Given the description of an element on the screen output the (x, y) to click on. 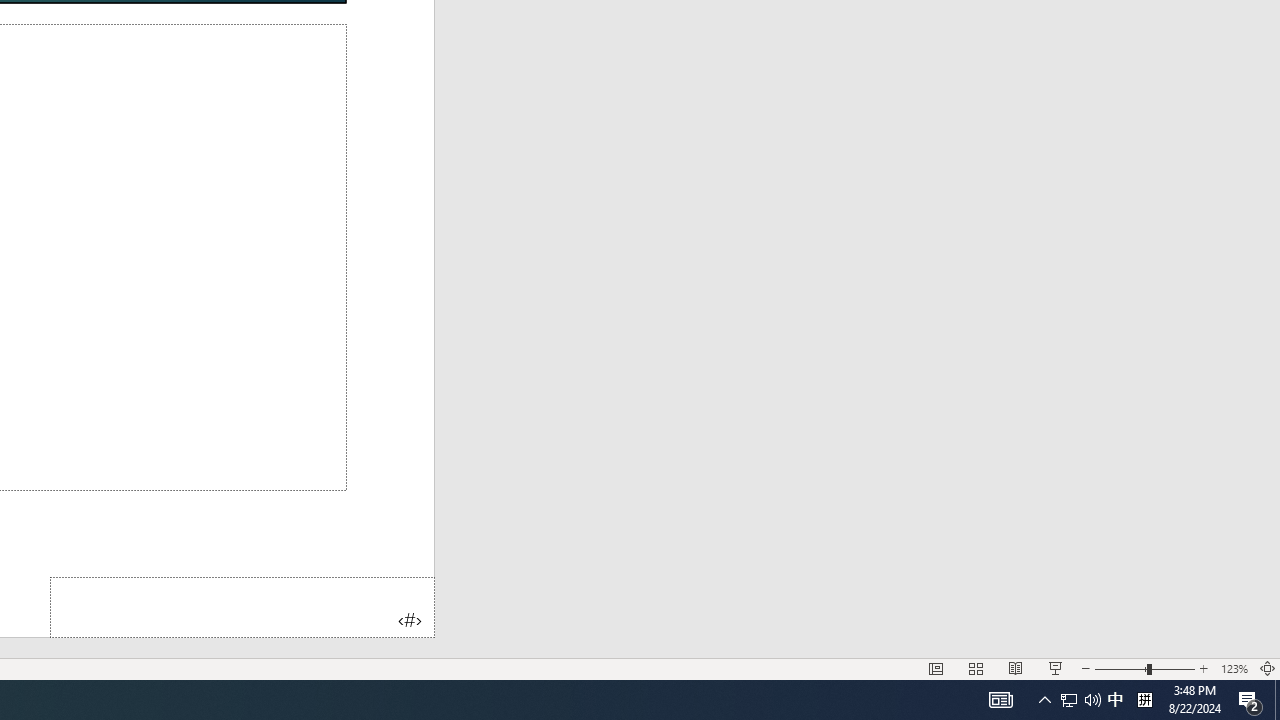
Page Number (242, 606)
Zoom 123% (1234, 668)
